Given the description of an element on the screen output the (x, y) to click on. 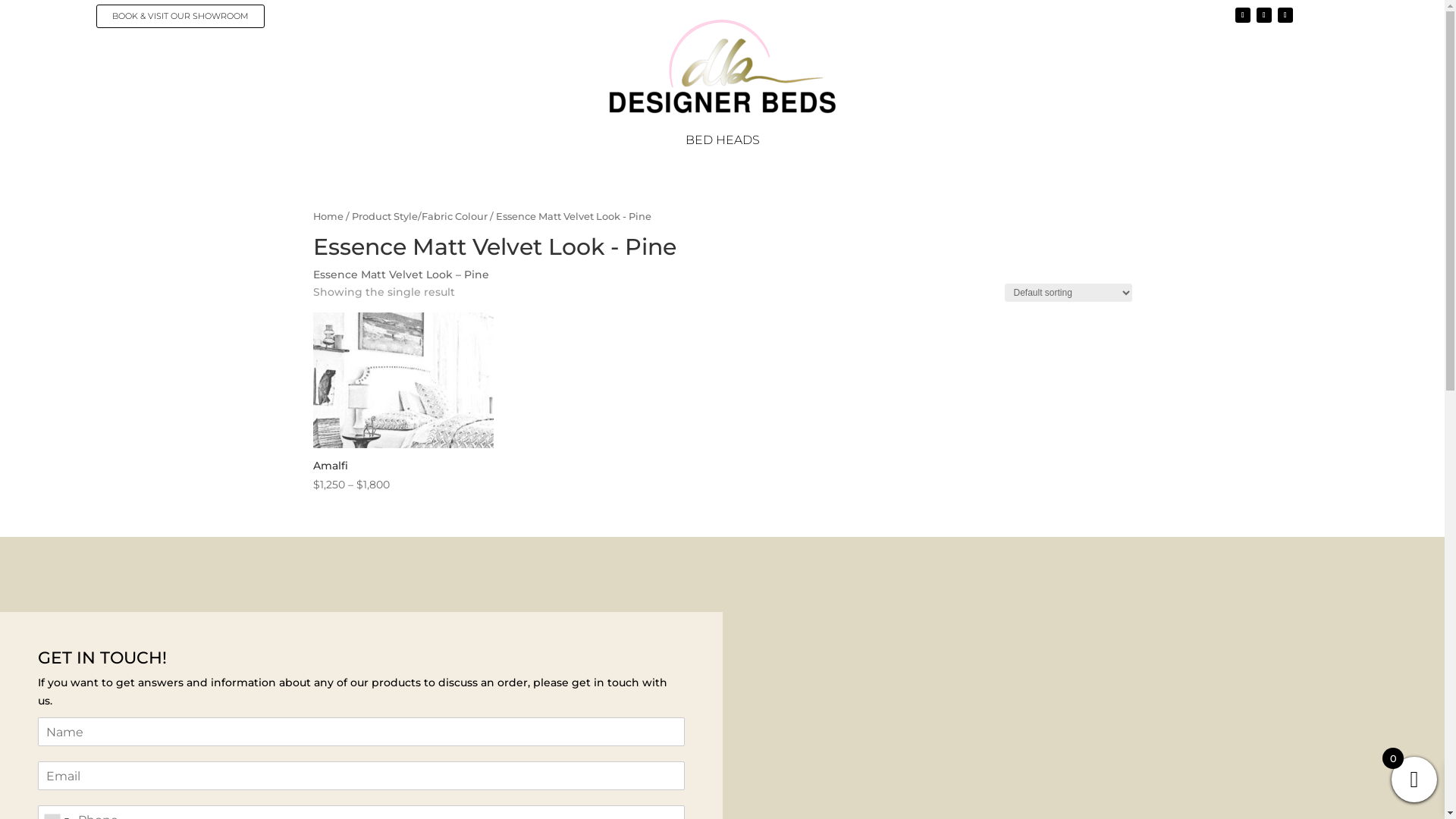
BED HEADS Element type: text (722, 142)
Home Element type: text (327, 216)
Follow on Twitter Element type: hover (1263, 14)
Follow on Facebook Element type: hover (1242, 14)
Follow on Instagram Element type: hover (1284, 14)
BOOK & VISIT OUR SHOWROOM Element type: text (180, 16)
